Given the description of an element on the screen output the (x, y) to click on. 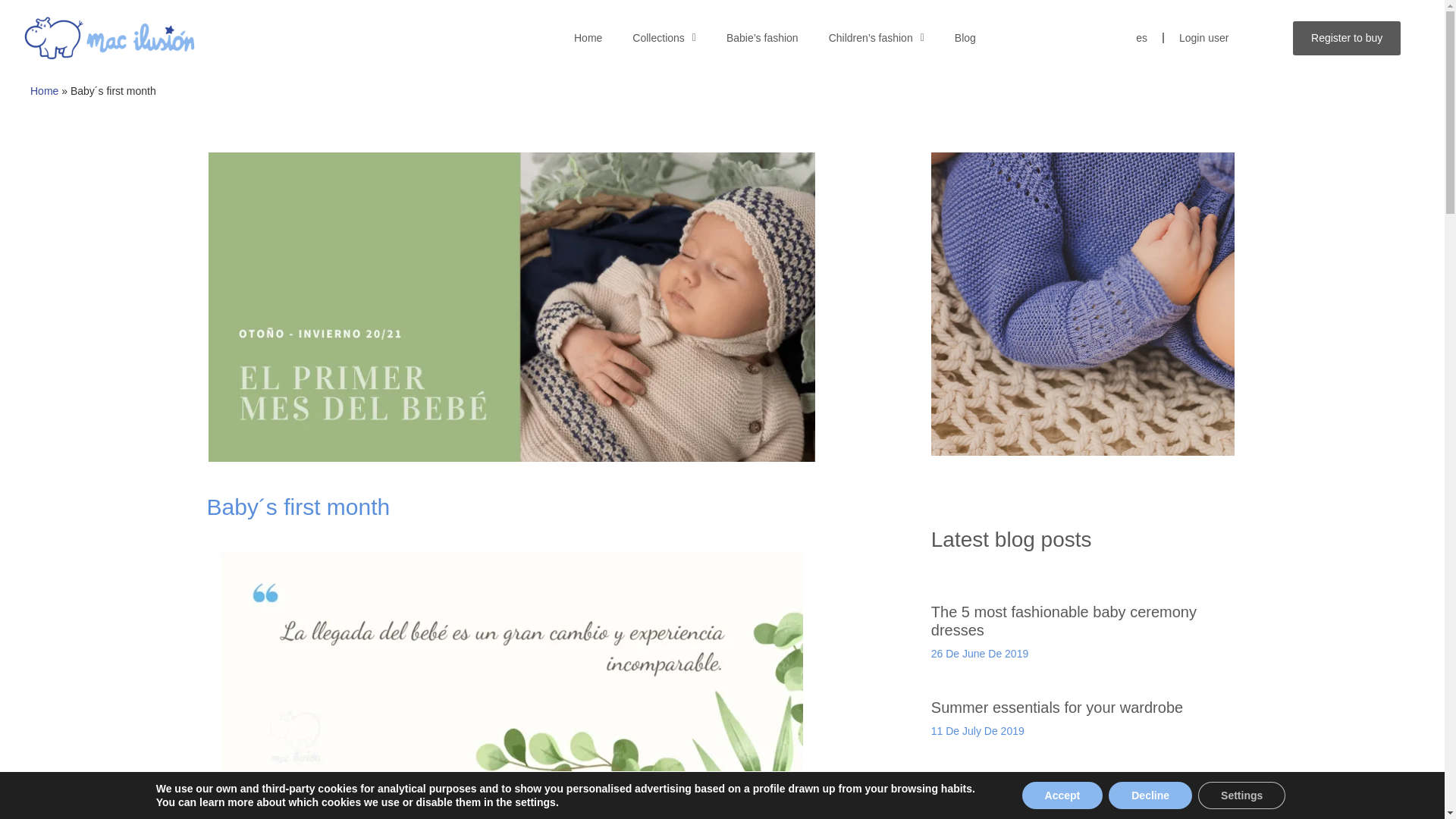
Home (588, 38)
es (1141, 38)
Register to buy (1346, 38)
Collections (664, 38)
Blog (965, 38)
Login user (1203, 38)
